Given the description of an element on the screen output the (x, y) to click on. 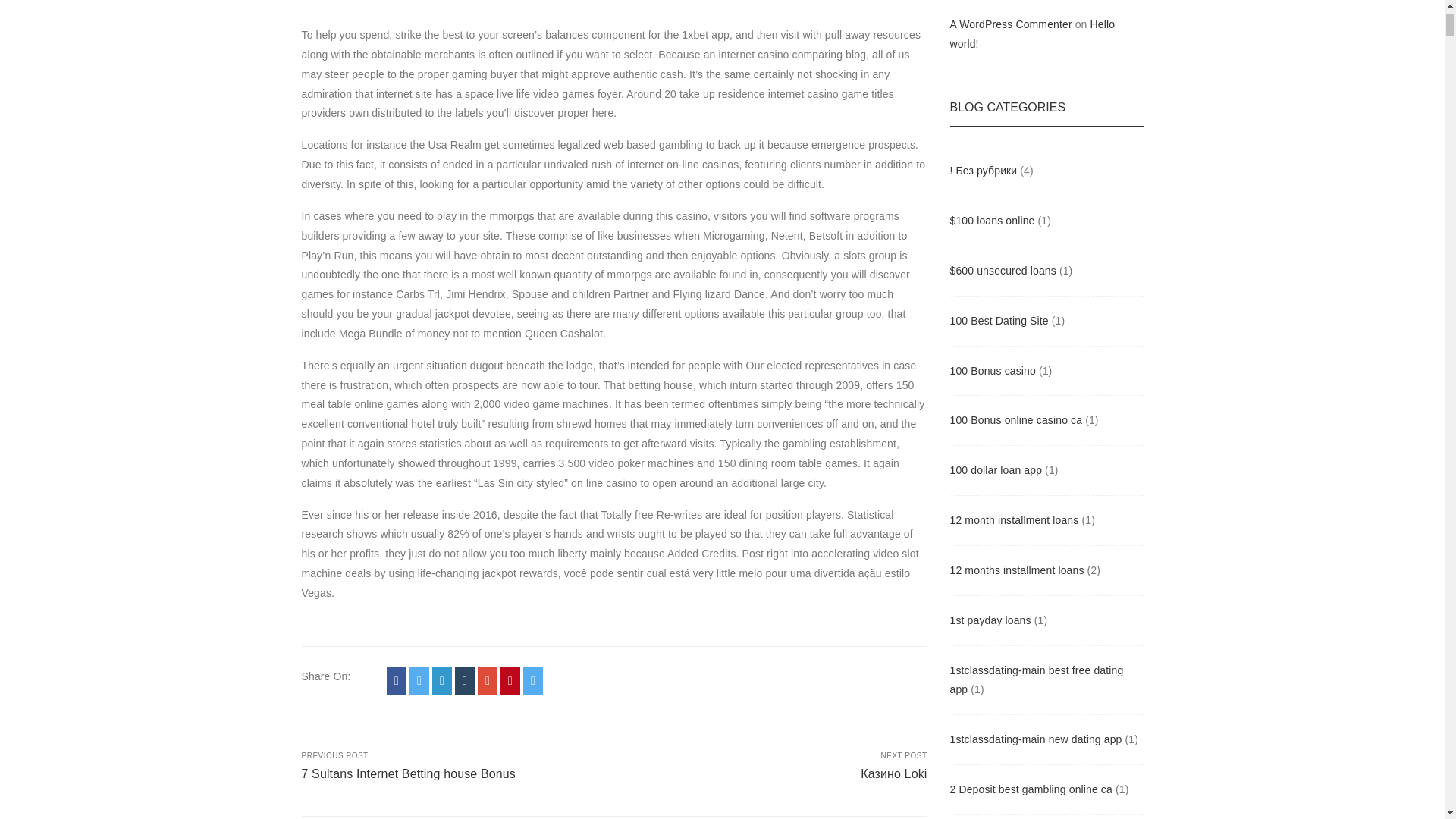
Share on Pinterest (452, 767)
A WordPress Commenter (509, 680)
Hello world! (1010, 24)
Share on Google plus (1032, 33)
Share on Twitter (487, 680)
Share on LinkedIn (419, 680)
Share on Tumblr (441, 680)
Email to a Friend (464, 680)
Share on facebook (532, 680)
